Given the description of an element on the screen output the (x, y) to click on. 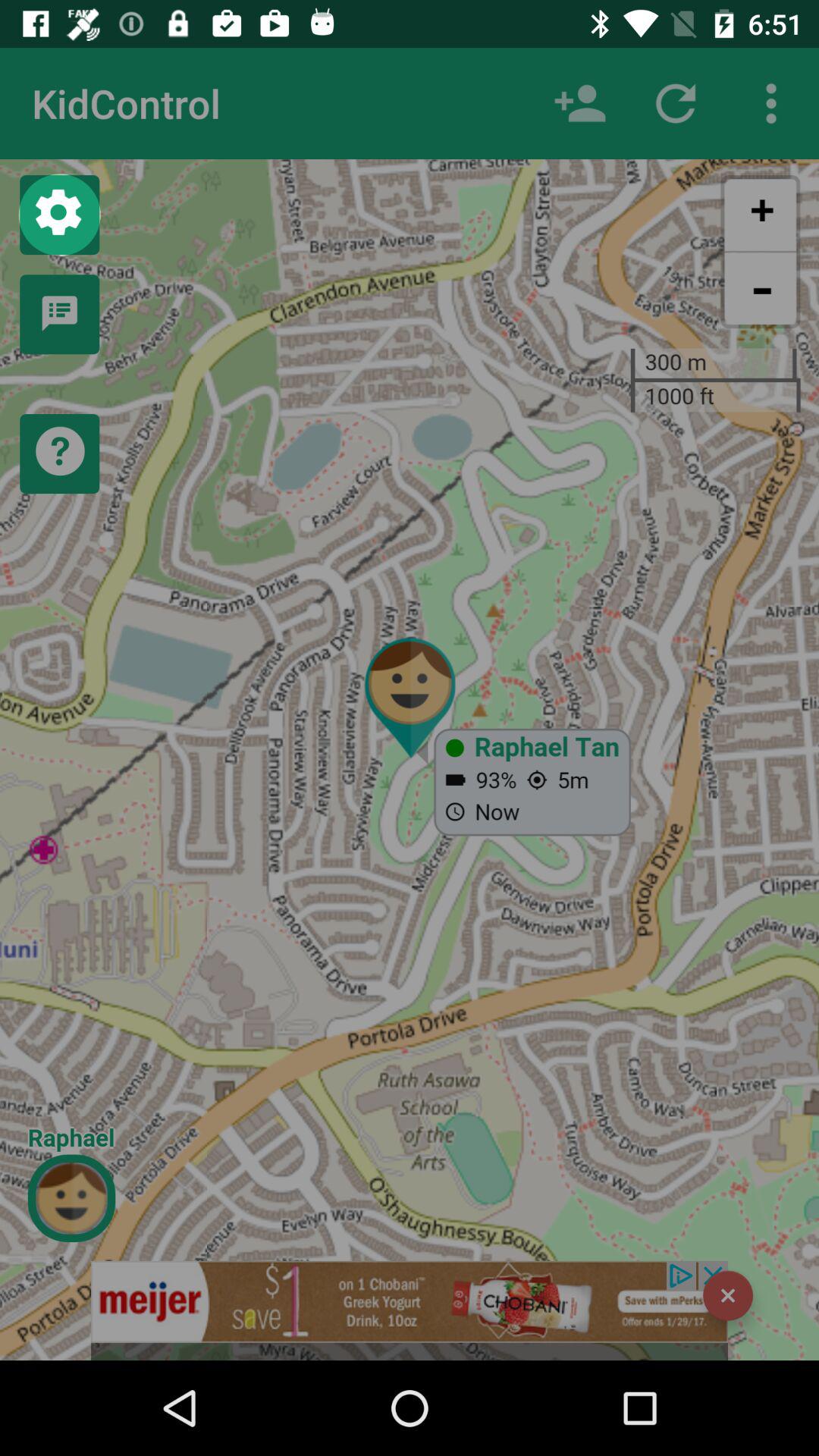
turn on the icon to the right of kidcontrol app (579, 103)
